Given the description of an element on the screen output the (x, y) to click on. 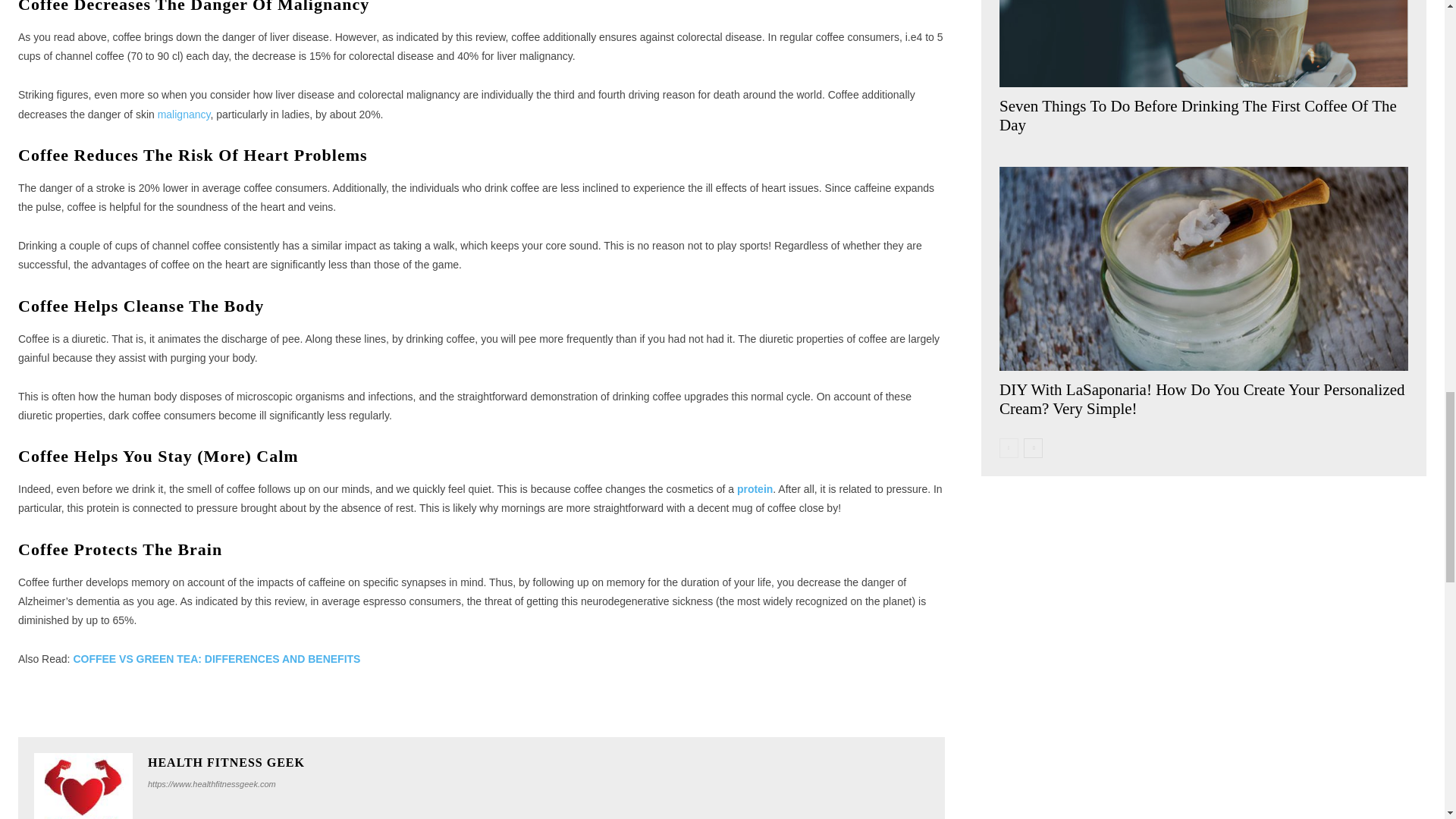
COFFEE VS GREEN TEA: DIFFERENCES AND BENEFITS (215, 658)
Health Fitness Geek (82, 785)
malignancy (184, 114)
protein (754, 489)
HEALTH FITNESS GEEK (226, 762)
